Given the description of an element on the screen output the (x, y) to click on. 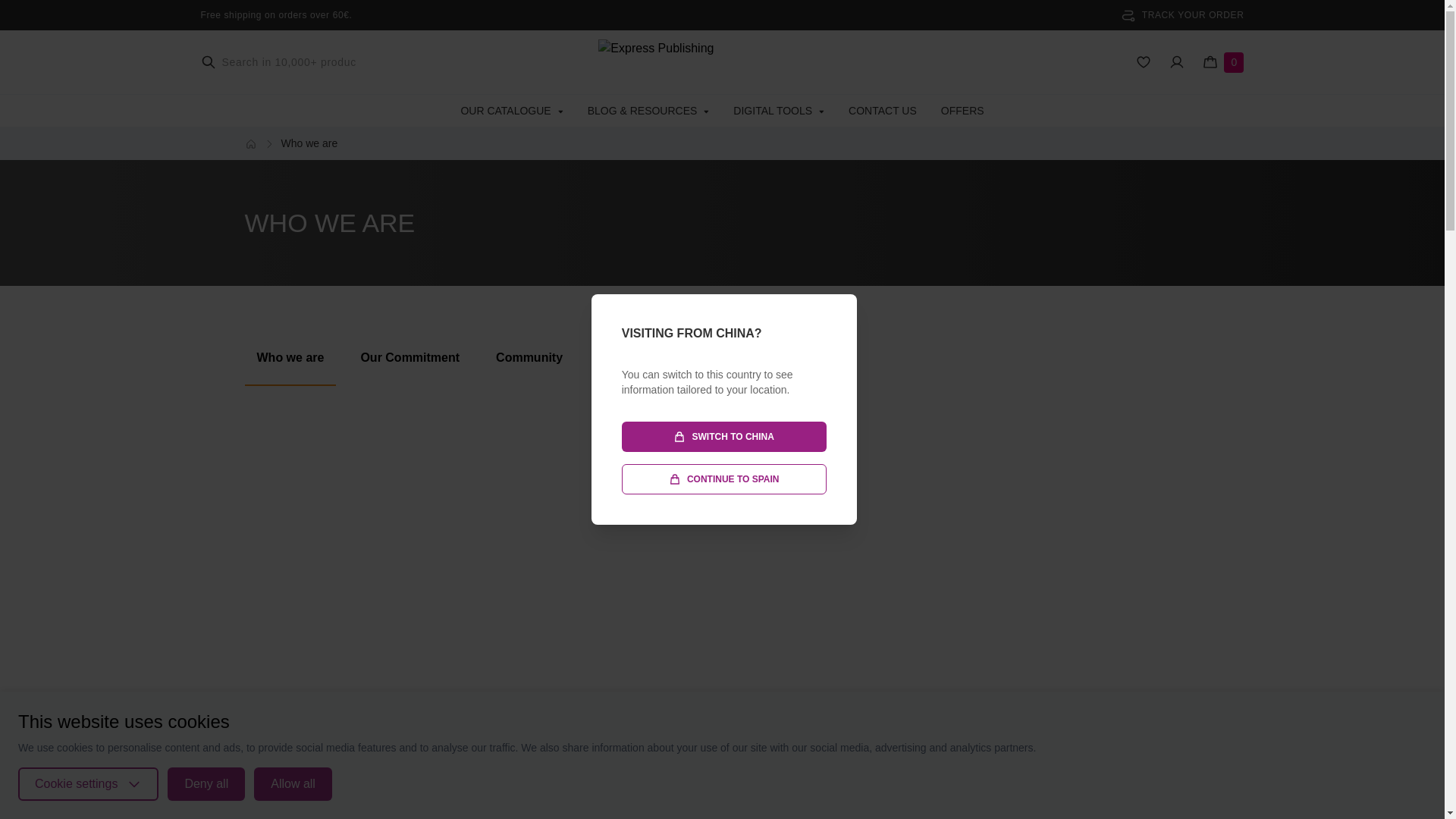
OFFERS (962, 111)
Home (250, 143)
CONTACT US (882, 111)
Community (529, 358)
Express Publishing (721, 62)
OUR CATALOGUE (511, 111)
Our Commitment (409, 358)
Who we are (290, 358)
TRACK YOUR ORDER (1182, 14)
